Given the description of an element on the screen output the (x, y) to click on. 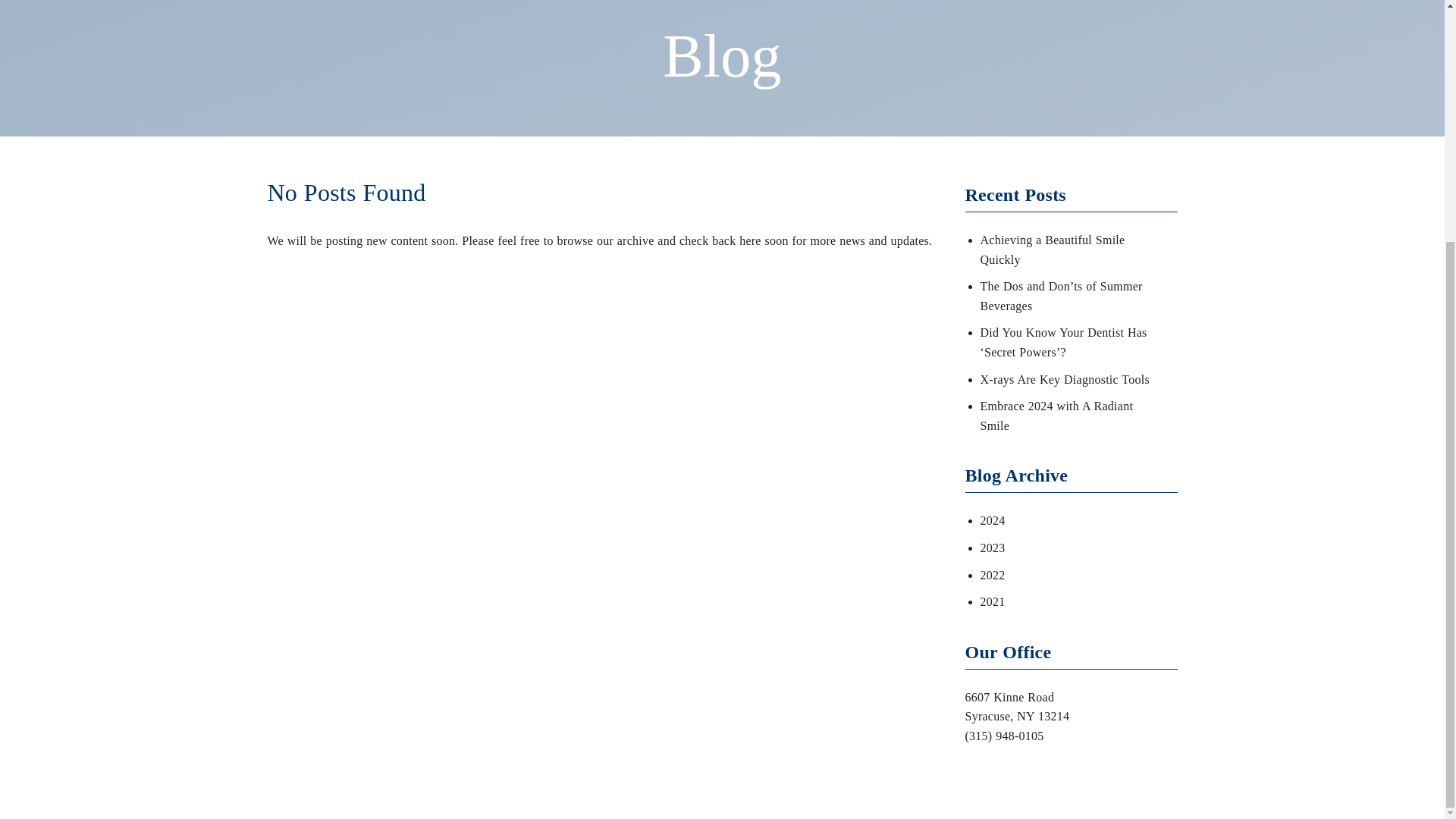
2022 (991, 574)
Achieving a Beautiful Smile Quickly (1051, 249)
2024 (991, 520)
2023 (991, 547)
Embrace 2024 with A Radiant Smile (1055, 415)
X-rays Are Key Diagnostic Tools (1063, 379)
2021 (991, 601)
